Given the description of an element on the screen output the (x, y) to click on. 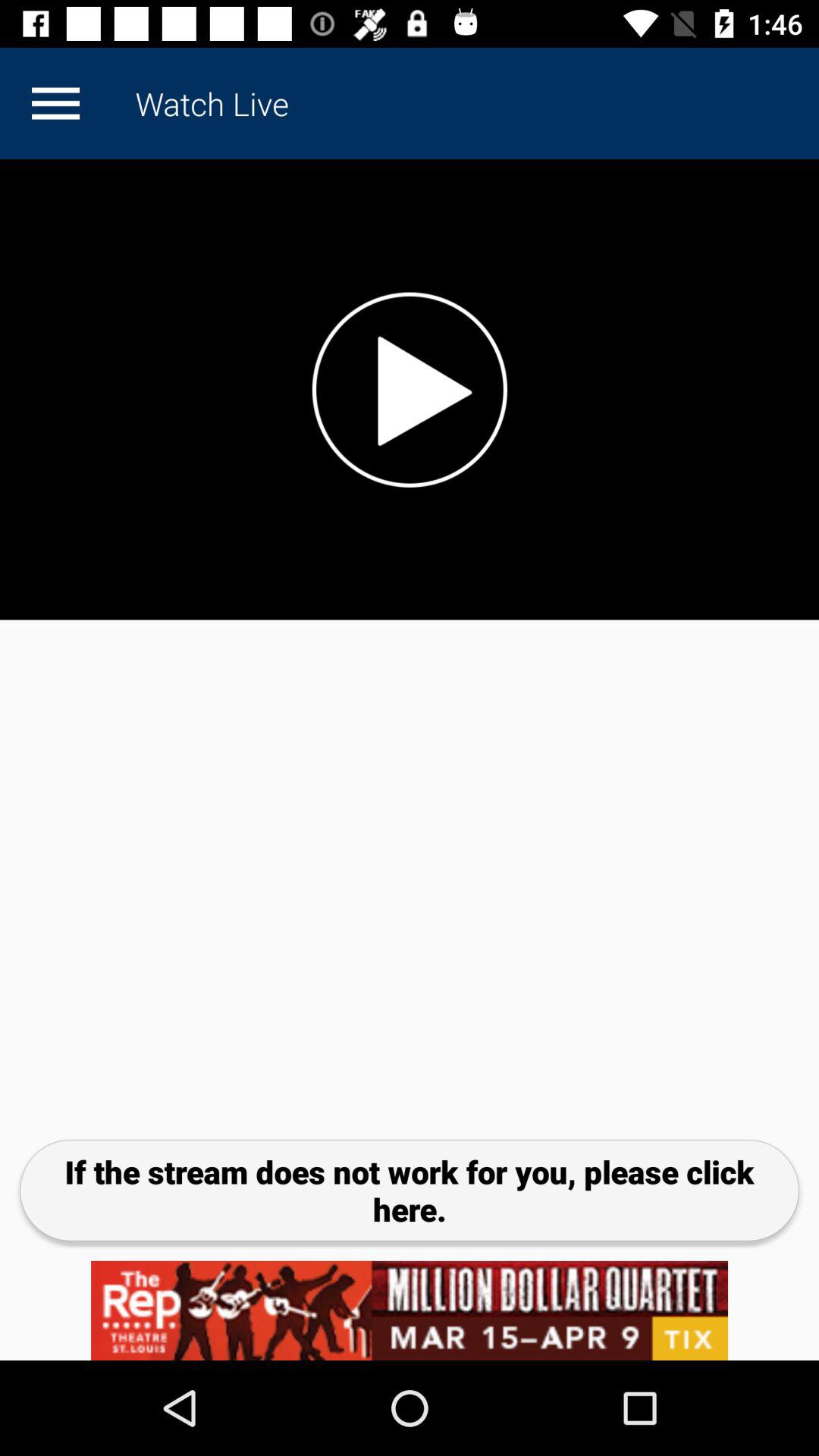
open menu (55, 103)
